Given the description of an element on the screen output the (x, y) to click on. 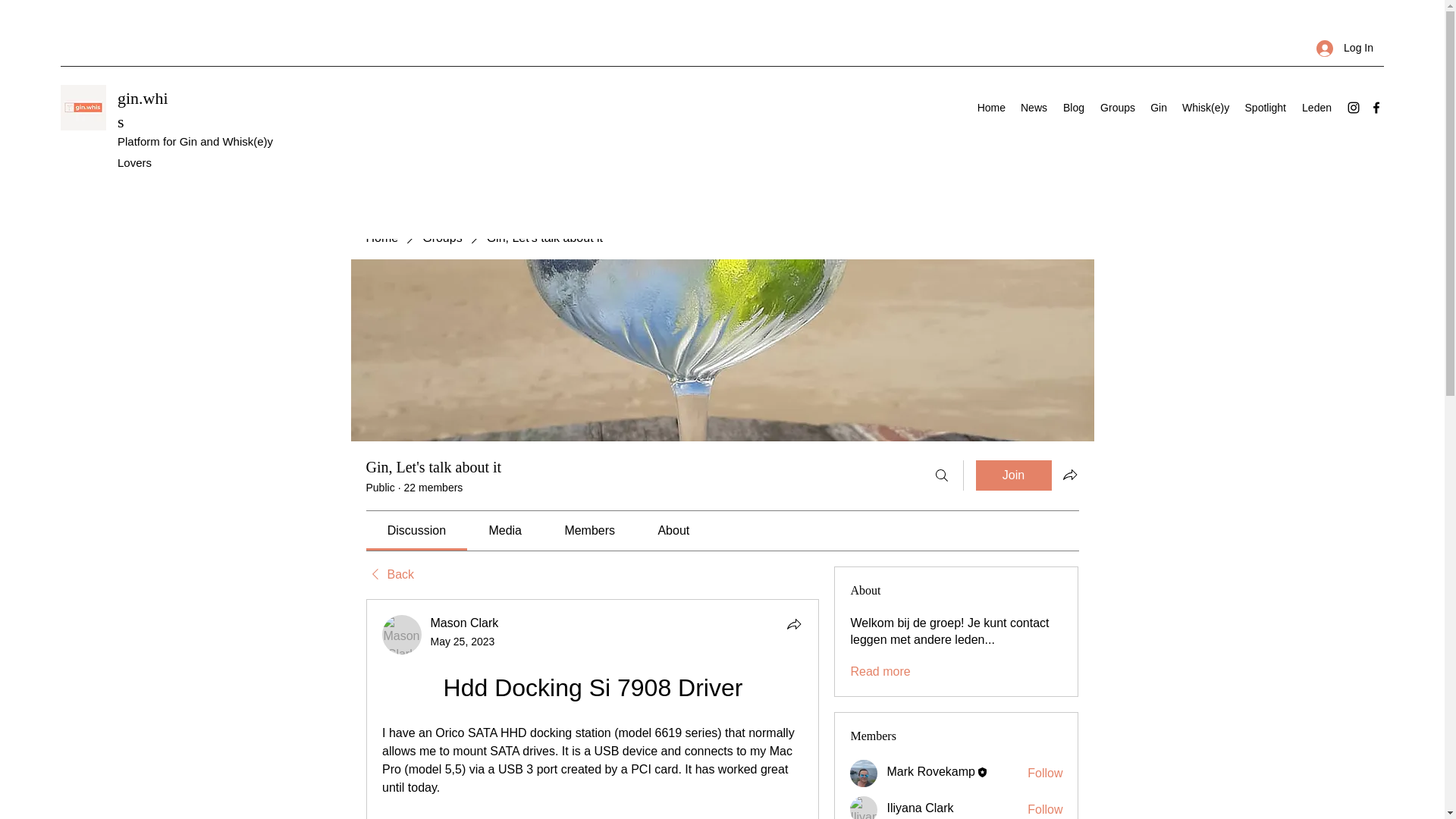
Leden (1316, 107)
gin.whis (142, 109)
Follow (1044, 773)
Iliyana Clark (919, 807)
Home (991, 107)
Mason Clark (401, 634)
Log In (1345, 48)
Mark Rovekamp (930, 771)
Back (389, 574)
Mason Clark (464, 622)
